Given the description of an element on the screen output the (x, y) to click on. 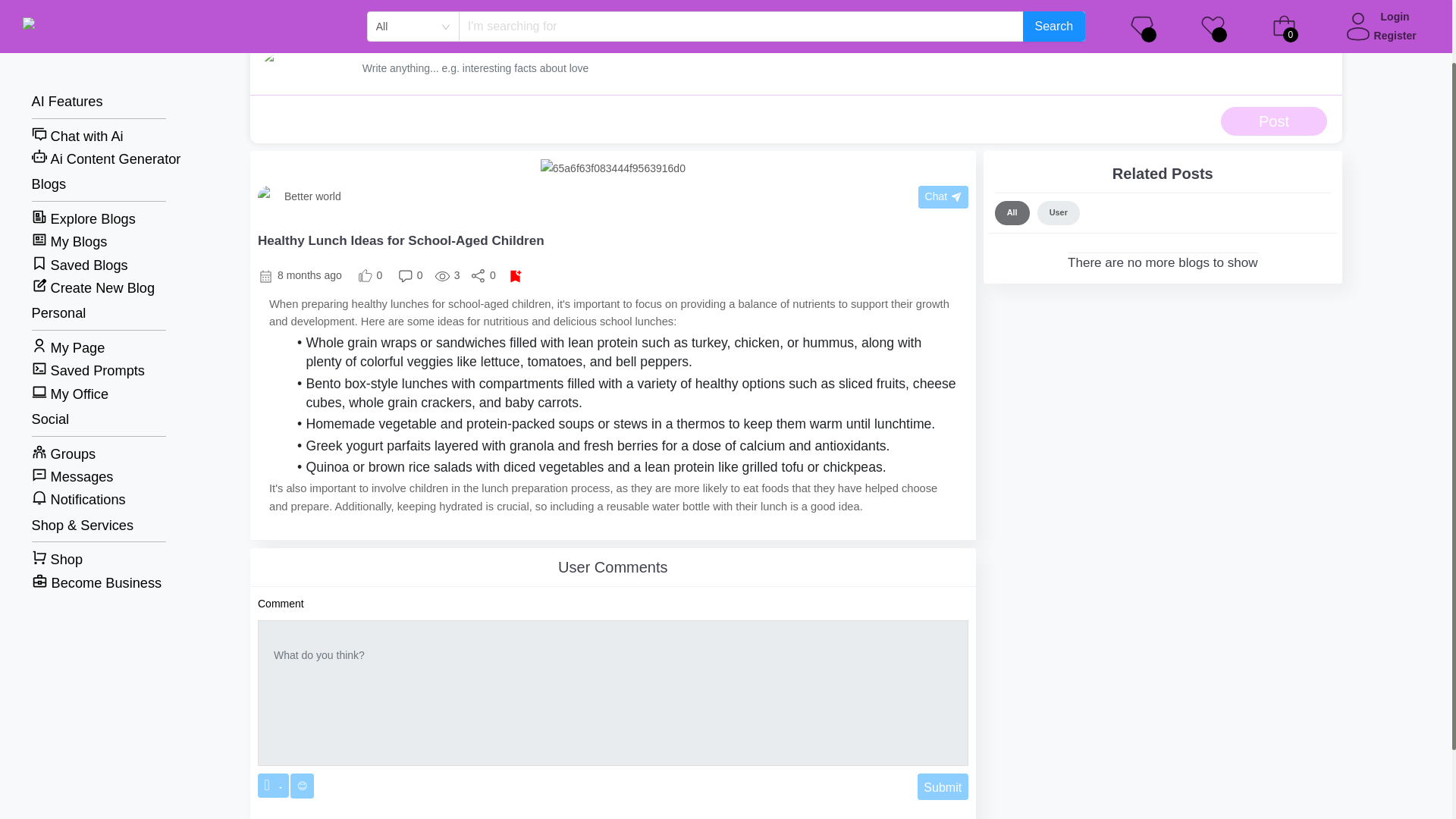
Submit (942, 786)
Post (1273, 121)
Comments (409, 275)
Messages (106, 401)
Create New Blog (106, 212)
View Counts (446, 275)
There are no more blogs to show (1162, 256)
Ai Content Generator (106, 83)
My Office (106, 318)
All (1011, 212)
